Given the description of an element on the screen output the (x, y) to click on. 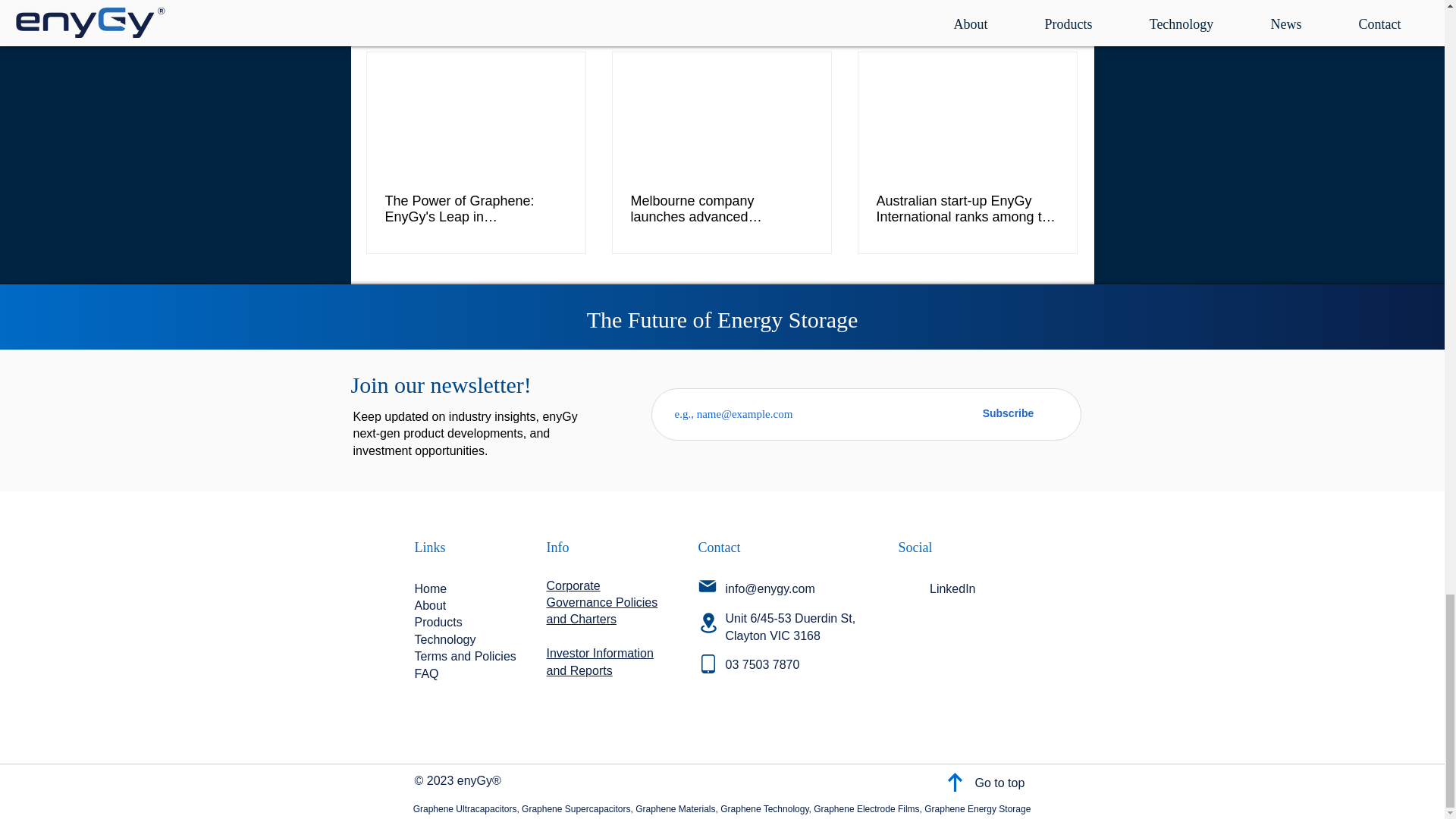
About (429, 604)
Terms and Policies (464, 656)
Subscribe (1007, 413)
Products (437, 621)
Investor Information and Reports (599, 661)
See All (1061, 25)
Technology (444, 639)
Corporate Governance Policies and Charters (602, 602)
Home (429, 588)
FAQ (425, 673)
